Given the description of an element on the screen output the (x, y) to click on. 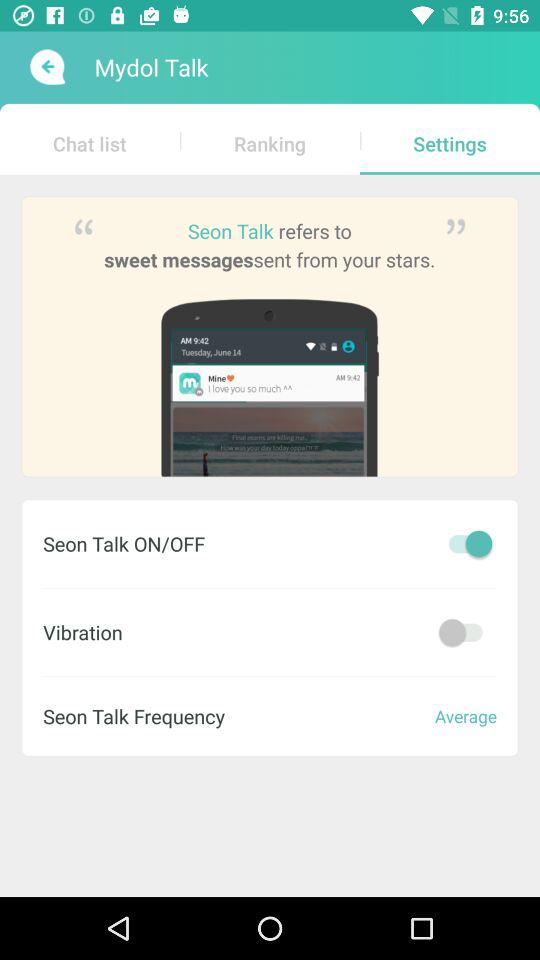
click to on\off seon talk (465, 543)
